Given the description of an element on the screen output the (x, y) to click on. 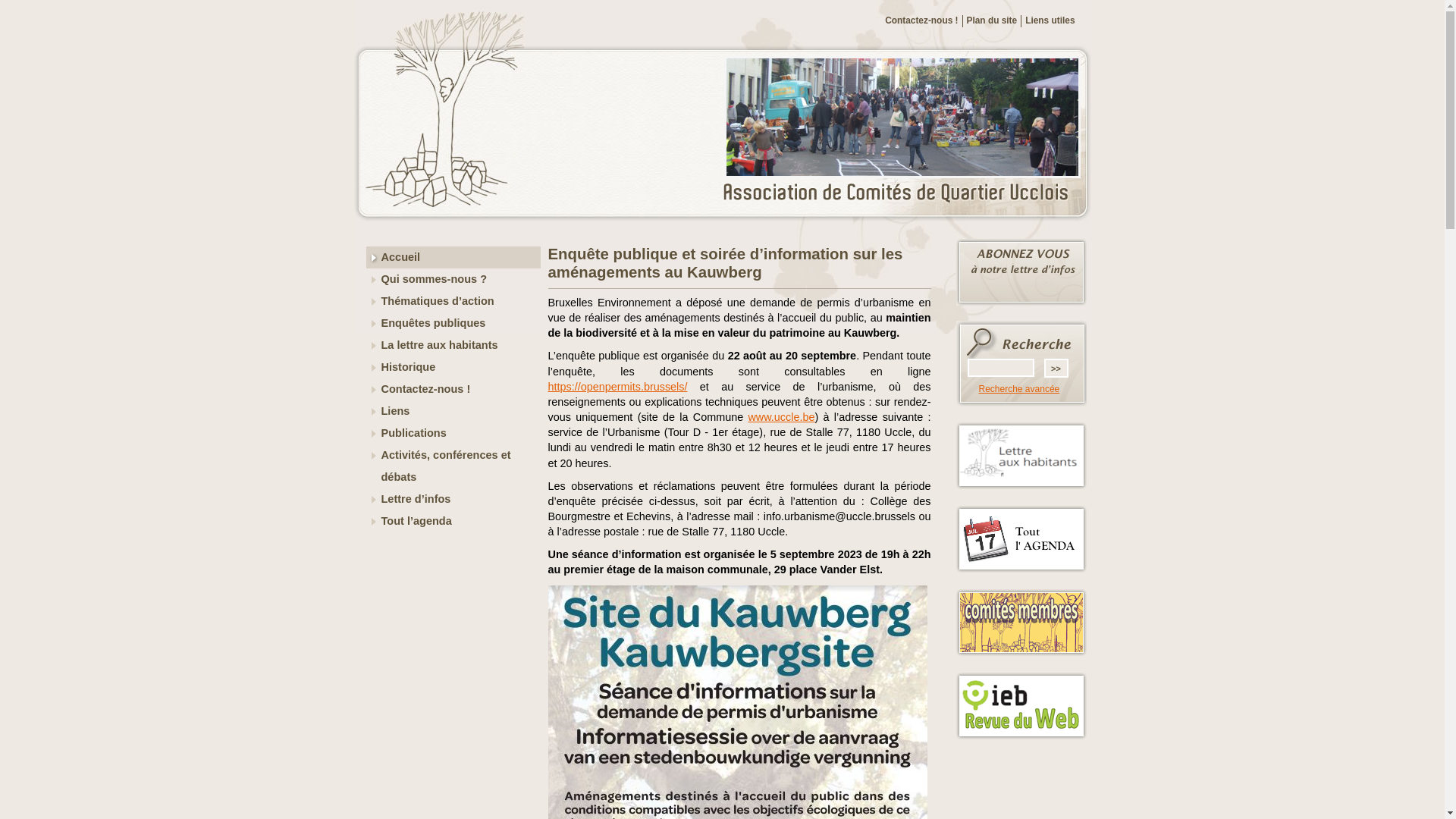
>> Element type: text (1055, 367)
Plan du site Element type: text (991, 20)
Accueil Element type: text (452, 257)
Liens Element type: text (452, 411)
Rechercher Element type: hover (1055, 367)
Publications Element type: text (452, 433)
https://openpermits.brussels/ Element type: text (617, 386)
www.uccle.be Element type: text (780, 417)
Qui sommes-nous ? Element type: text (452, 279)
La lettre aux habitants Element type: text (452, 345)
Contactez-nous ! Element type: text (920, 20)
revue du web Element type: hover (1021, 732)
Tout l'agenda Element type: hover (1021, 565)
la lettre Element type: hover (1021, 477)
Historique Element type: text (452, 367)
Liens utiles Element type: text (1049, 20)
Contactez-nous ! Element type: text (452, 389)
